Given the description of an element on the screen output the (x, y) to click on. 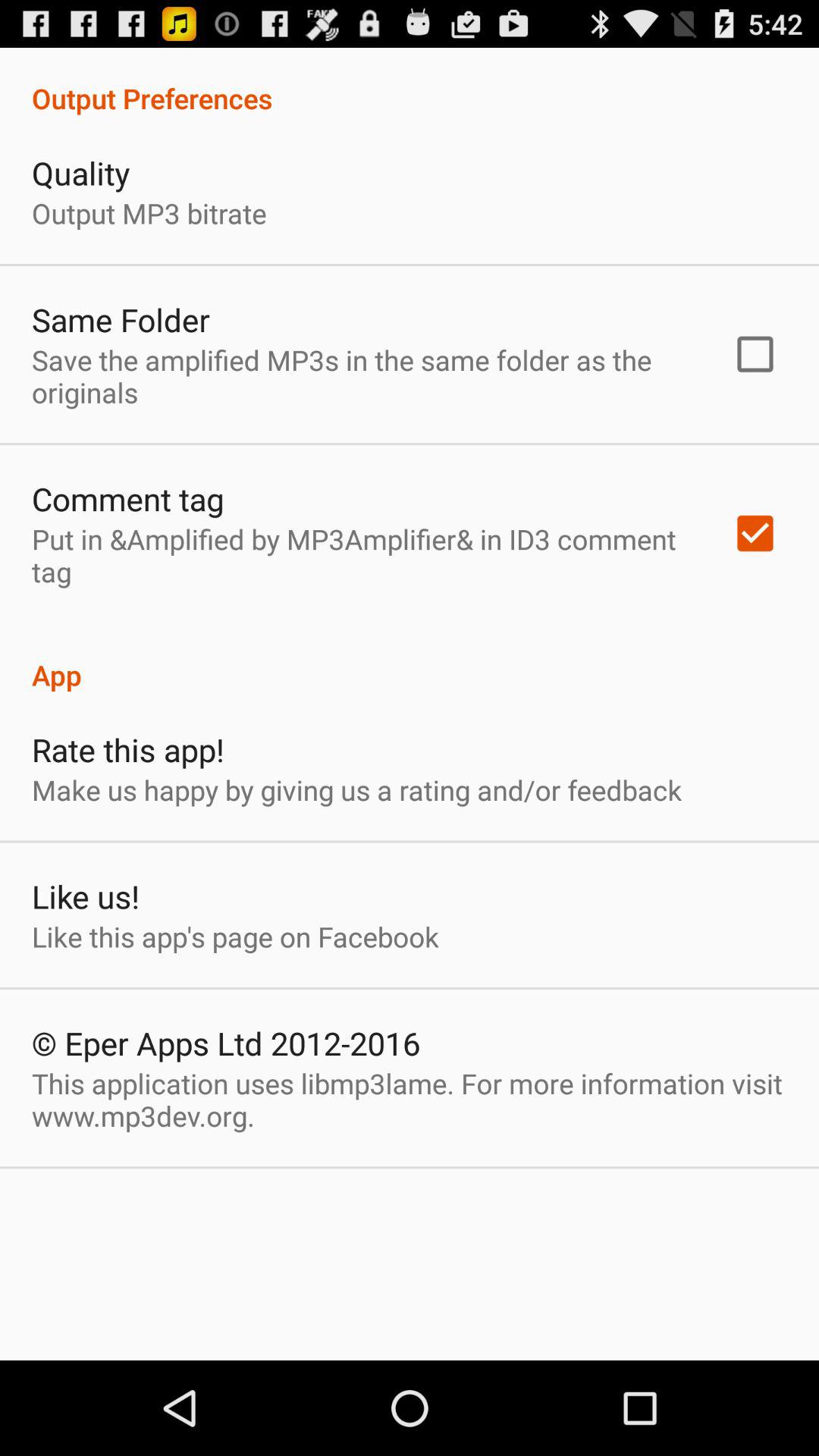
click item below make us happy item (85, 895)
